Given the description of an element on the screen output the (x, y) to click on. 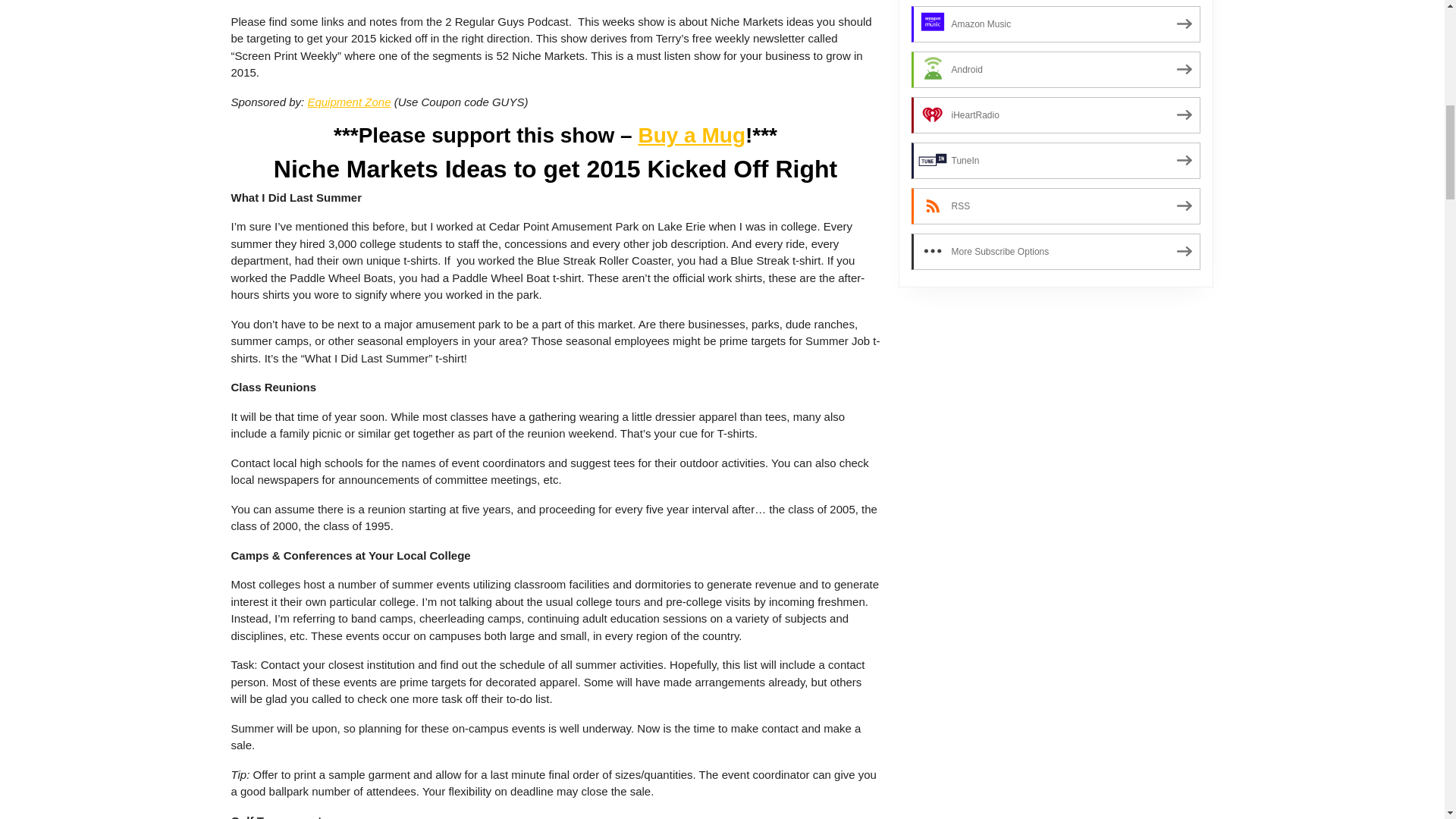
2 Regular Guys Stuff (691, 135)
Equipment Zone (348, 101)
Buy a Mug (691, 135)
